Given the description of an element on the screen output the (x, y) to click on. 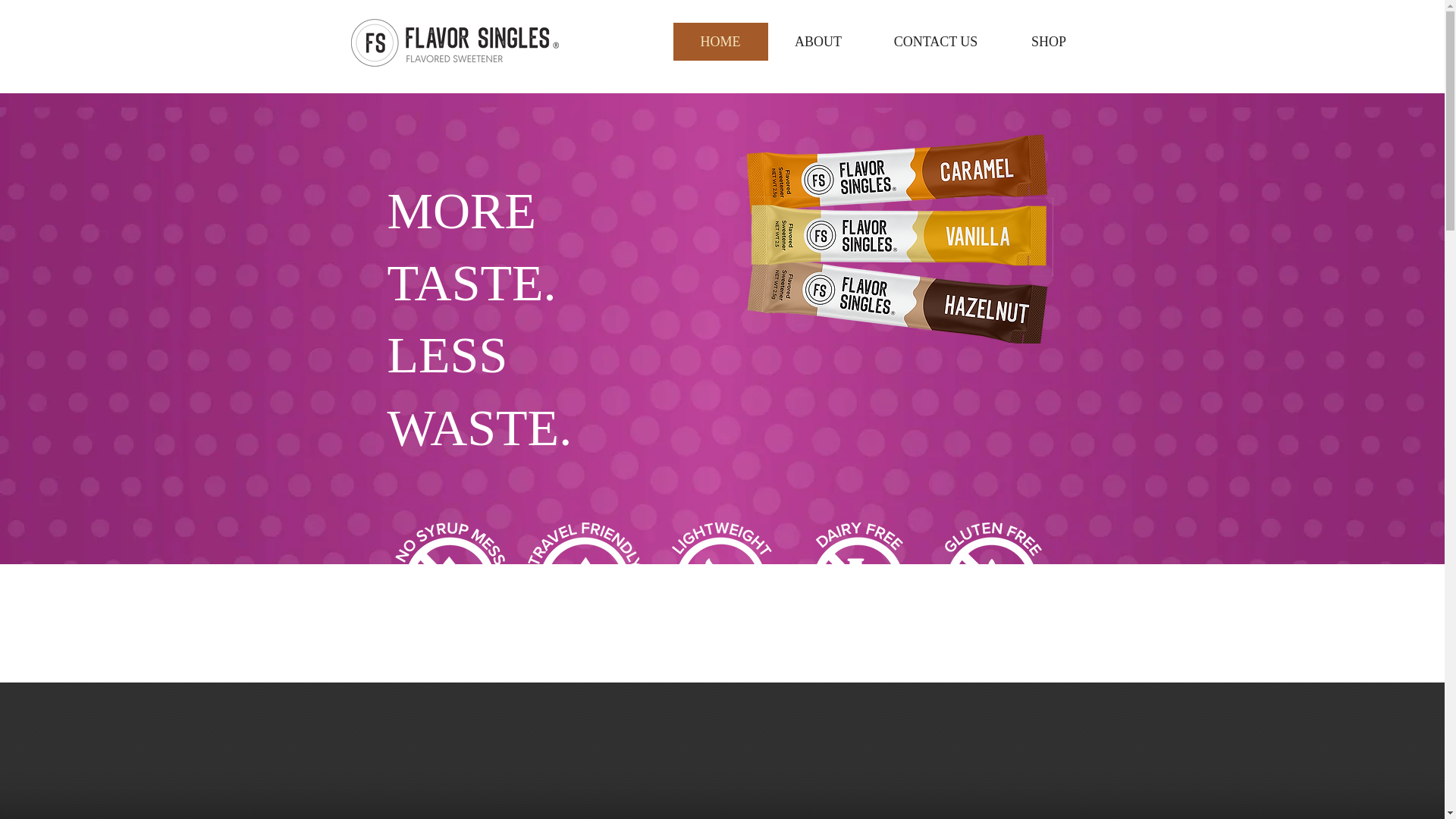
ABOUT (817, 41)
CONTACT US (935, 41)
HOME (720, 41)
SHOP (1048, 41)
